Given the description of an element on the screen output the (x, y) to click on. 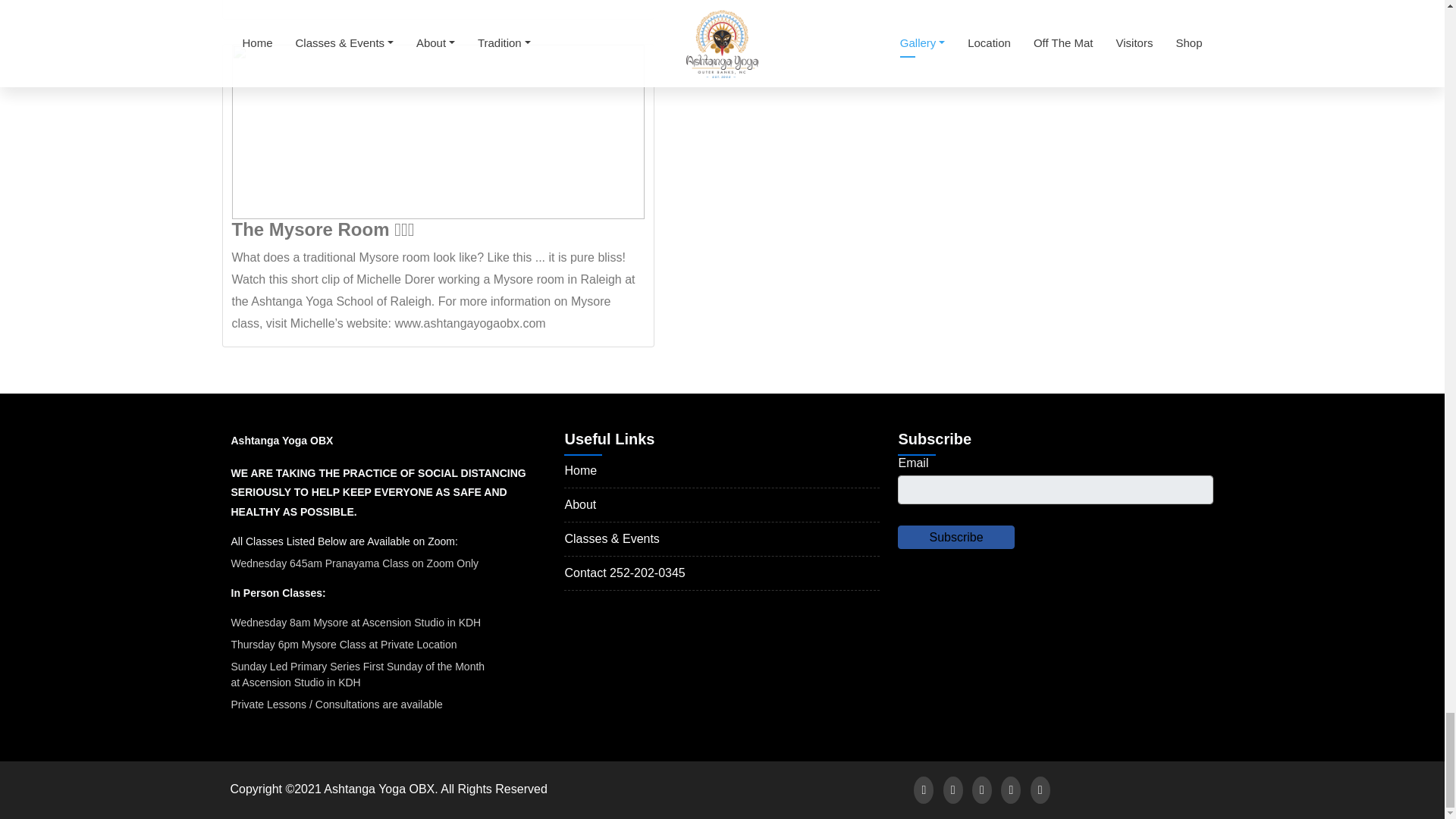
Pranayama Breathing Class (354, 563)
telephone (647, 572)
